Given the description of an element on the screen output the (x, y) to click on. 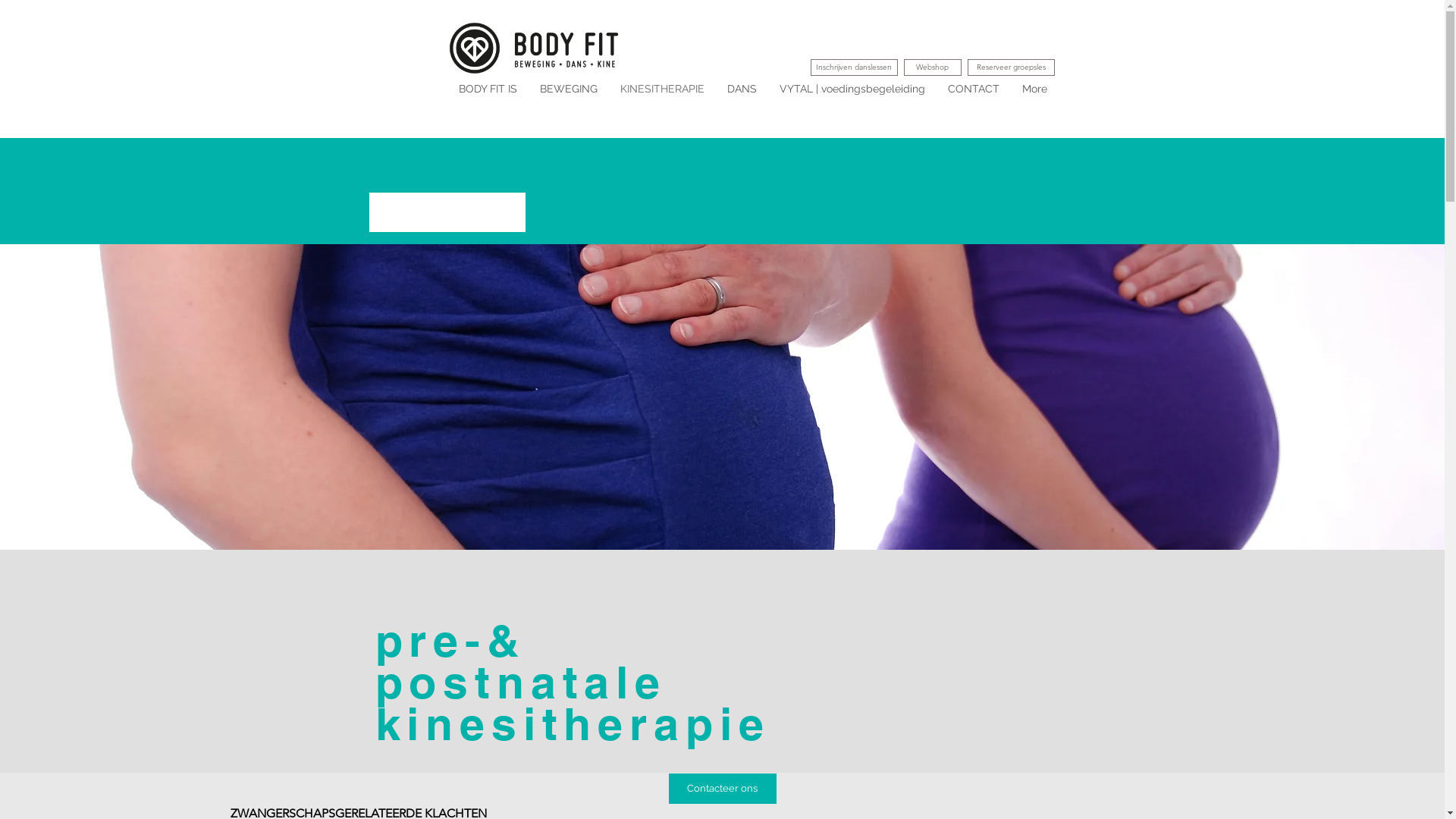
VYTAL | voedingsbegeleiding Element type: text (851, 95)
DANS Element type: text (741, 95)
BEWEGING Element type: text (567, 95)
CONTACT Element type: text (972, 95)
We love to cure Element type: hover (446, 212)
Reserveer groepsles Element type: text (1010, 67)
KINESITHERAPIE Element type: text (661, 95)
BODY FIT IS Element type: text (487, 95)
Contacteer ons Element type: text (722, 788)
BEweging - dans -kine - kinesitherapie Element type: hover (542, 47)
Inschrijven danslessen Element type: text (853, 67)
Webshop Element type: text (932, 67)
